Given the description of an element on the screen output the (x, y) to click on. 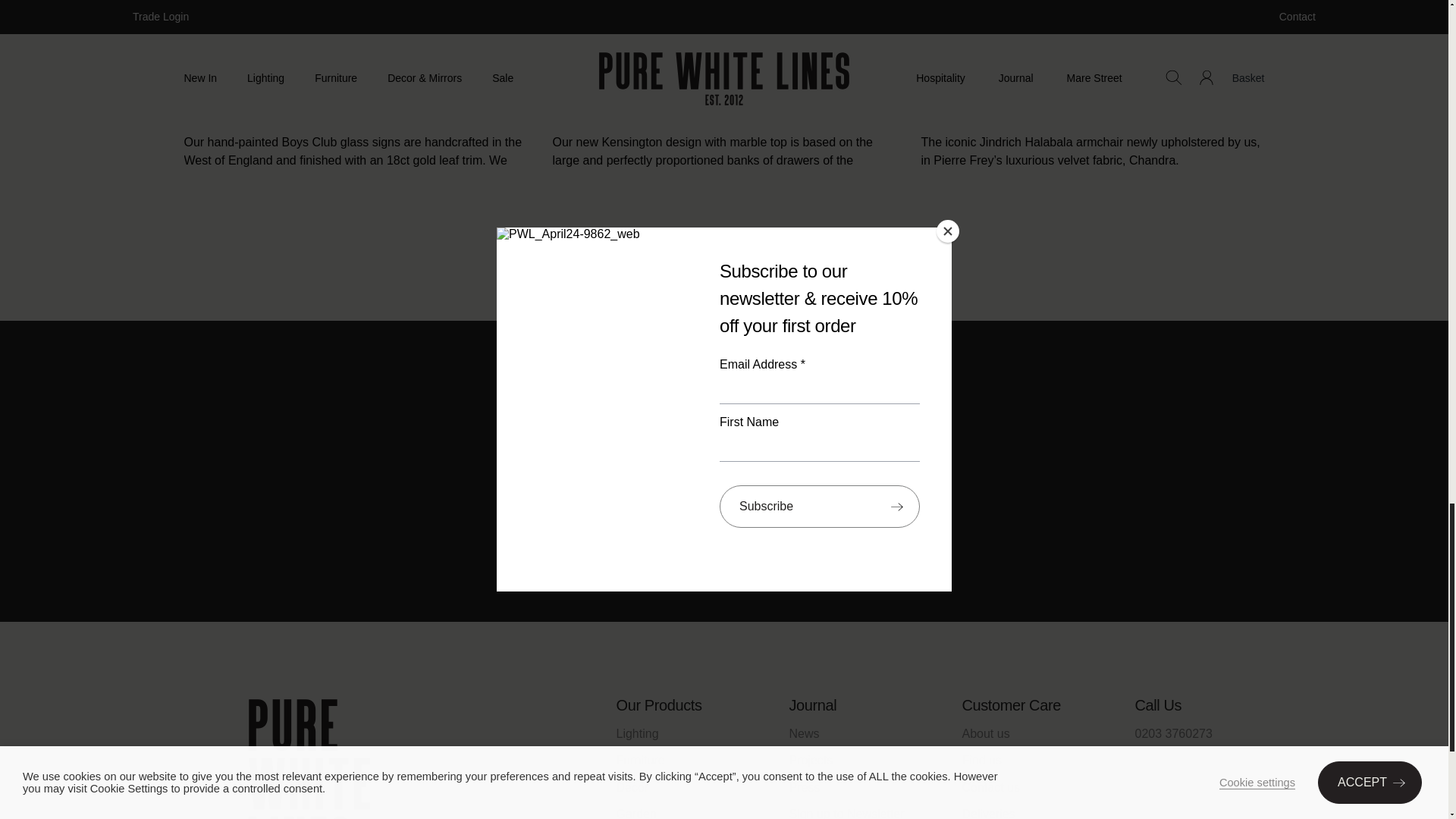
Join now (724, 525)
